Given the description of an element on the screen output the (x, y) to click on. 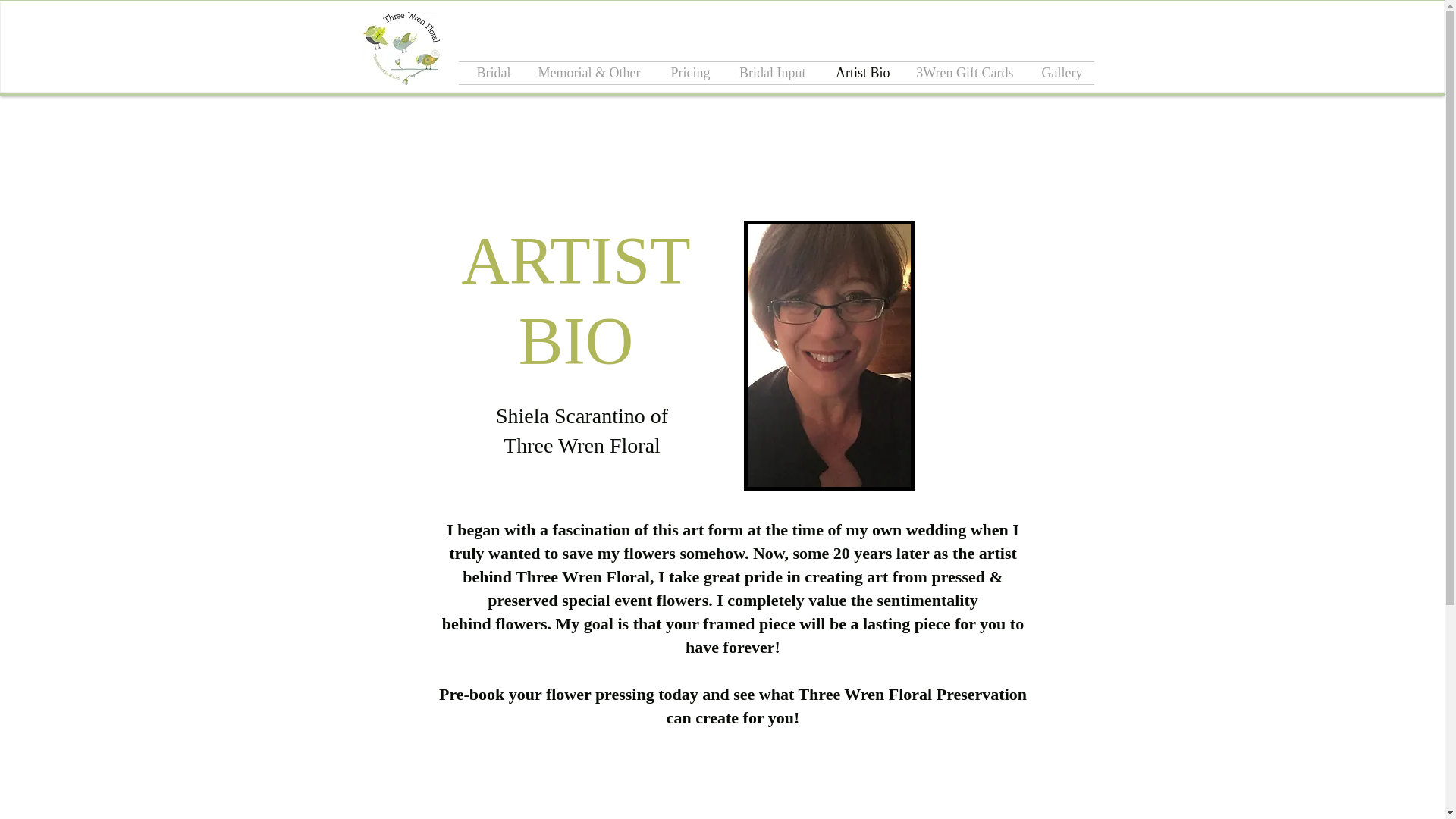
Bridal (489, 73)
Gallery (1059, 73)
3Wren Gift Cards (963, 73)
Artist Bio (858, 73)
Pricing (687, 73)
Bridal Input (769, 73)
